Given the description of an element on the screen output the (x, y) to click on. 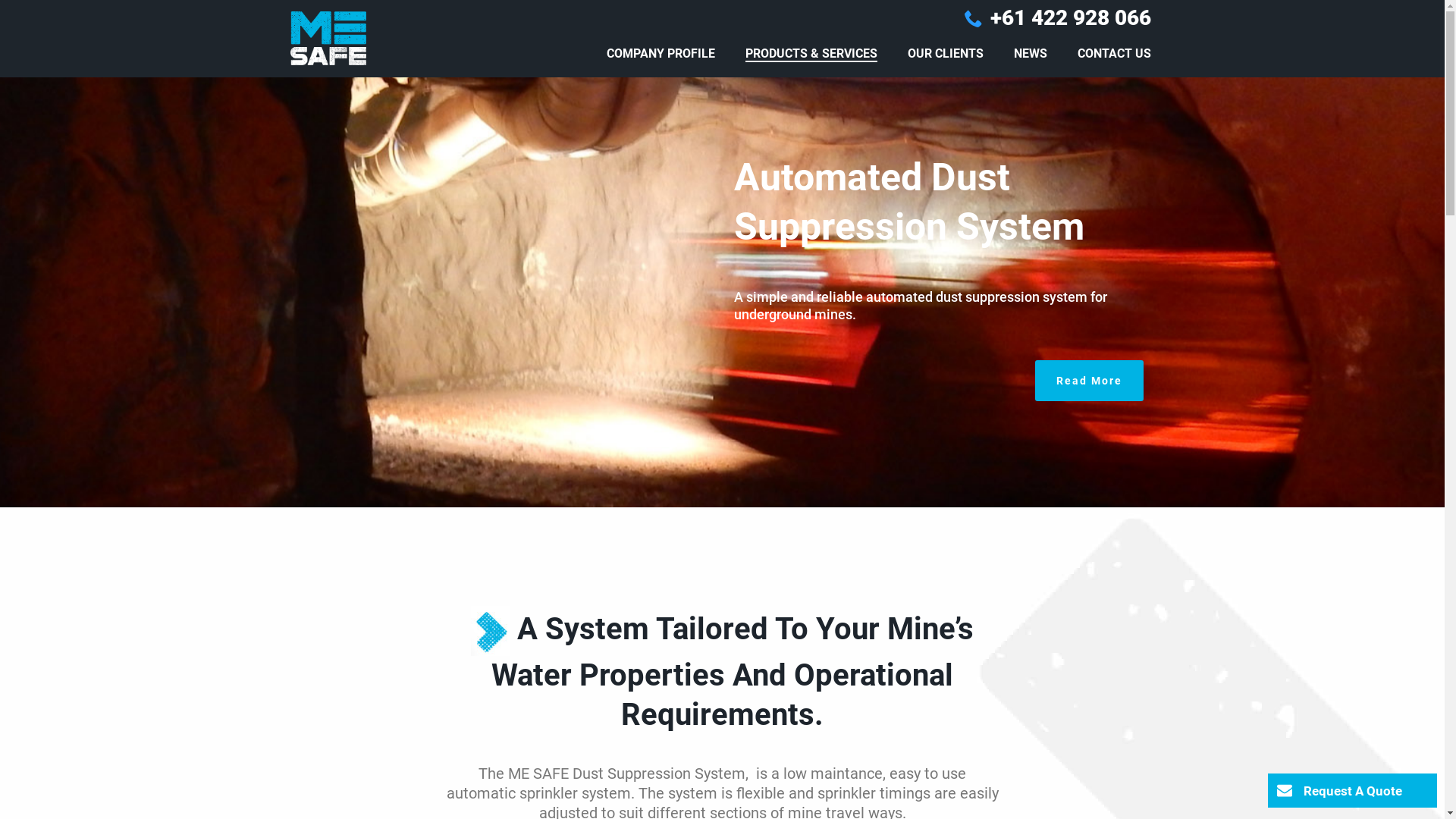
COMPANY PROFILE Element type: text (660, 53)
Request A Quote Element type: text (1352, 790)
+61 422 928 066 Element type: text (1070, 17)
OUR CLIENTS Element type: text (944, 53)
Mining Safety Equipment Element type: hover (327, 38)
Read More Element type: text (1088, 380)
NEWS Element type: text (1029, 53)
CONTACT US Element type: text (1113, 53)
PRODUCTS & SERVICES Element type: text (810, 53)
